Given the description of an element on the screen output the (x, y) to click on. 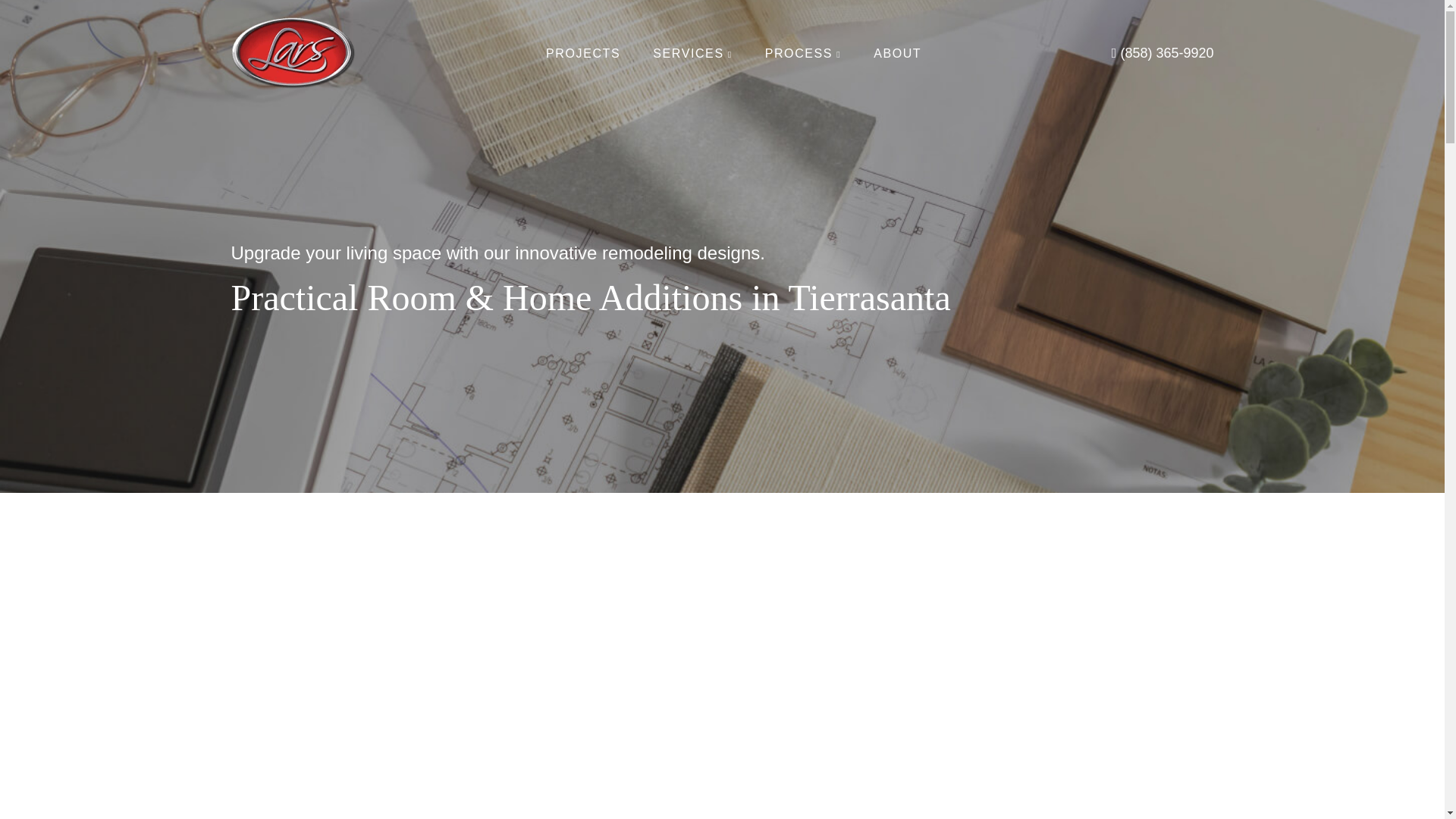
ABOUT (897, 53)
PROJECTS (583, 53)
PROCESS (803, 53)
SERVICES (692, 53)
